Given the description of an element on the screen output the (x, y) to click on. 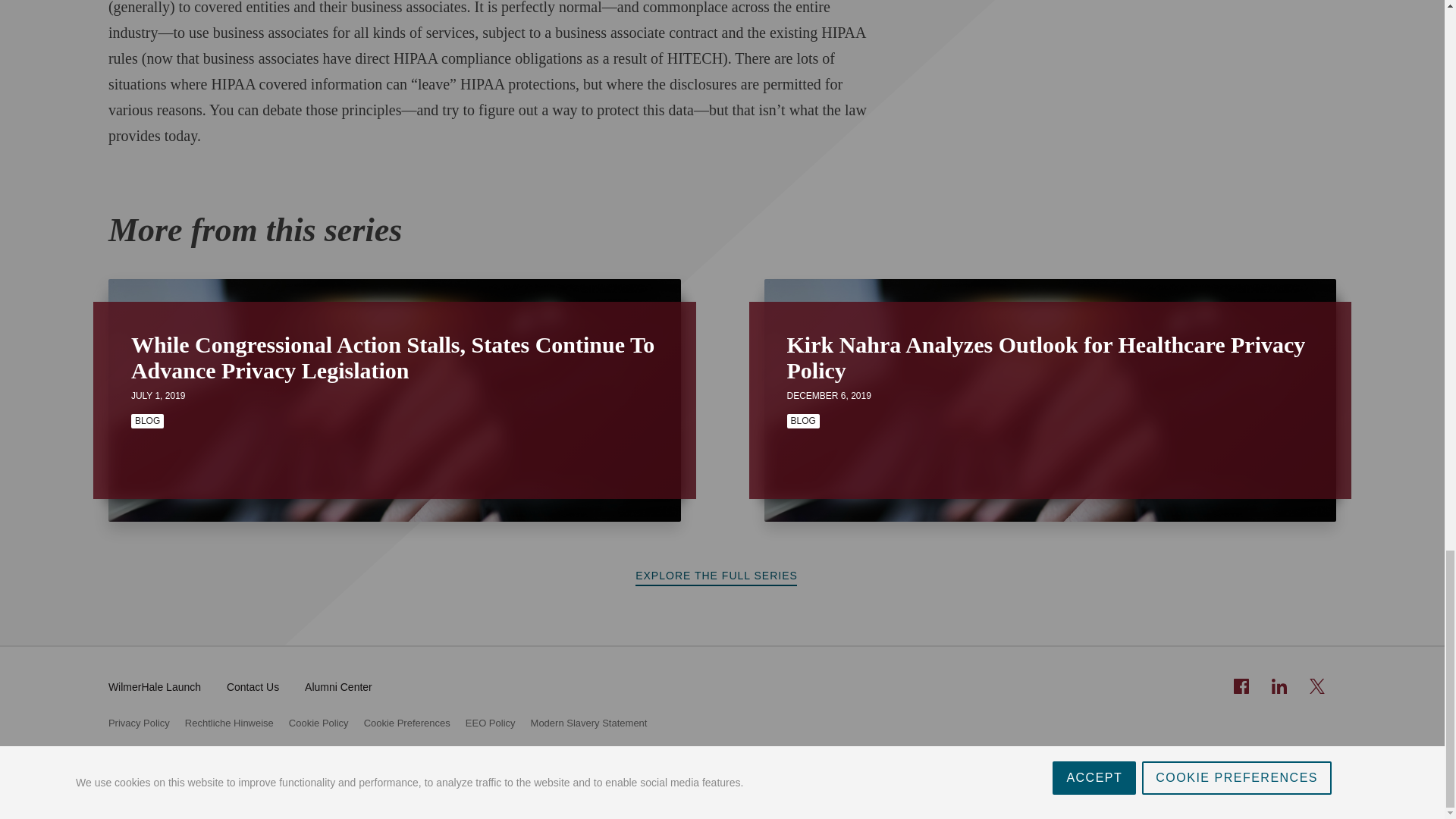
Contact Us (253, 686)
EXPLORE THE FULL SERIES (721, 575)
WilmerHale Launch (153, 686)
Alumni Center (338, 686)
Privacy Policy (138, 723)
